Given the description of an element on the screen output the (x, y) to click on. 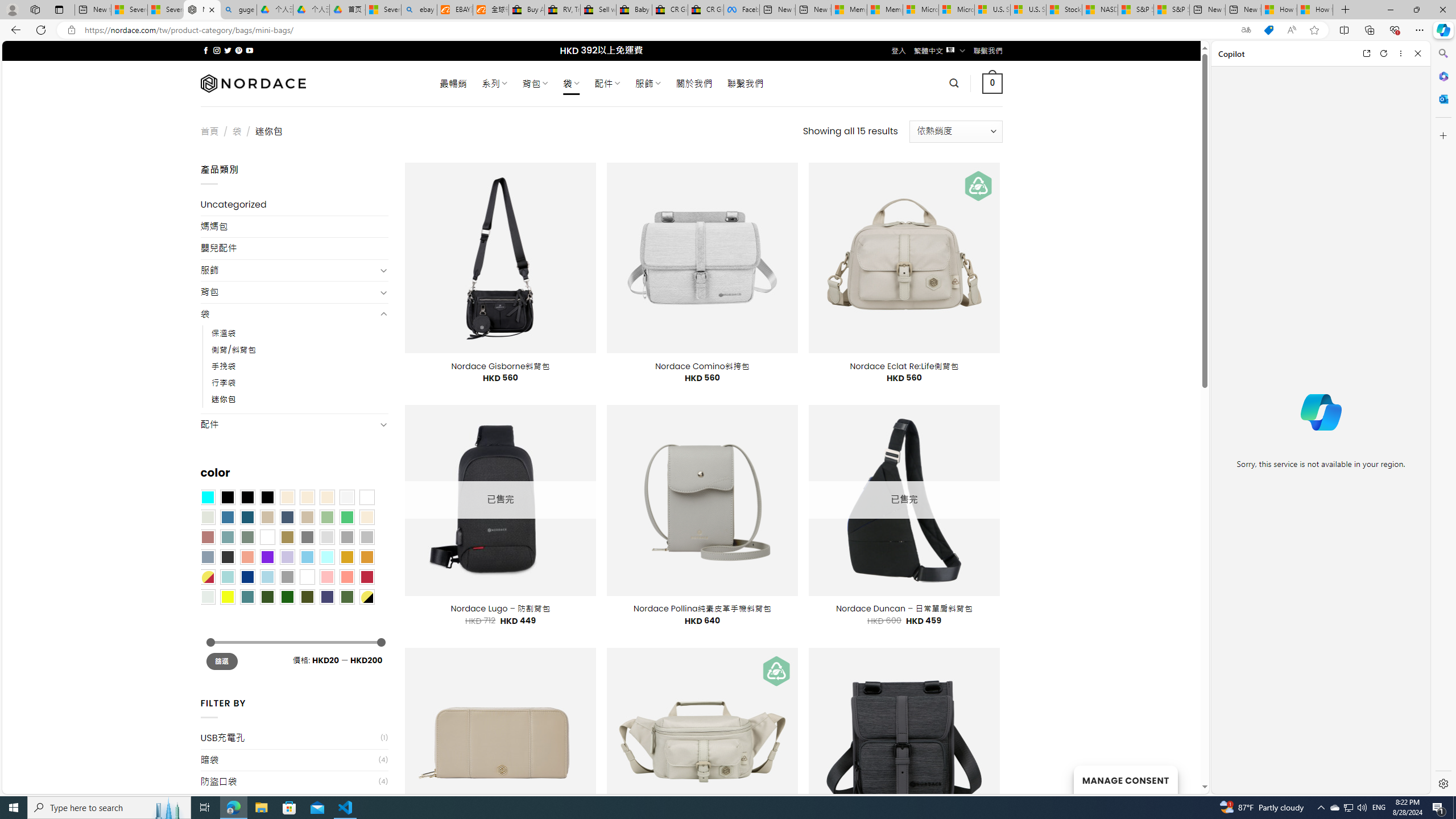
This site has coupons! Shopping in Microsoft Edge (1268, 29)
